Given the description of an element on the screen output the (x, y) to click on. 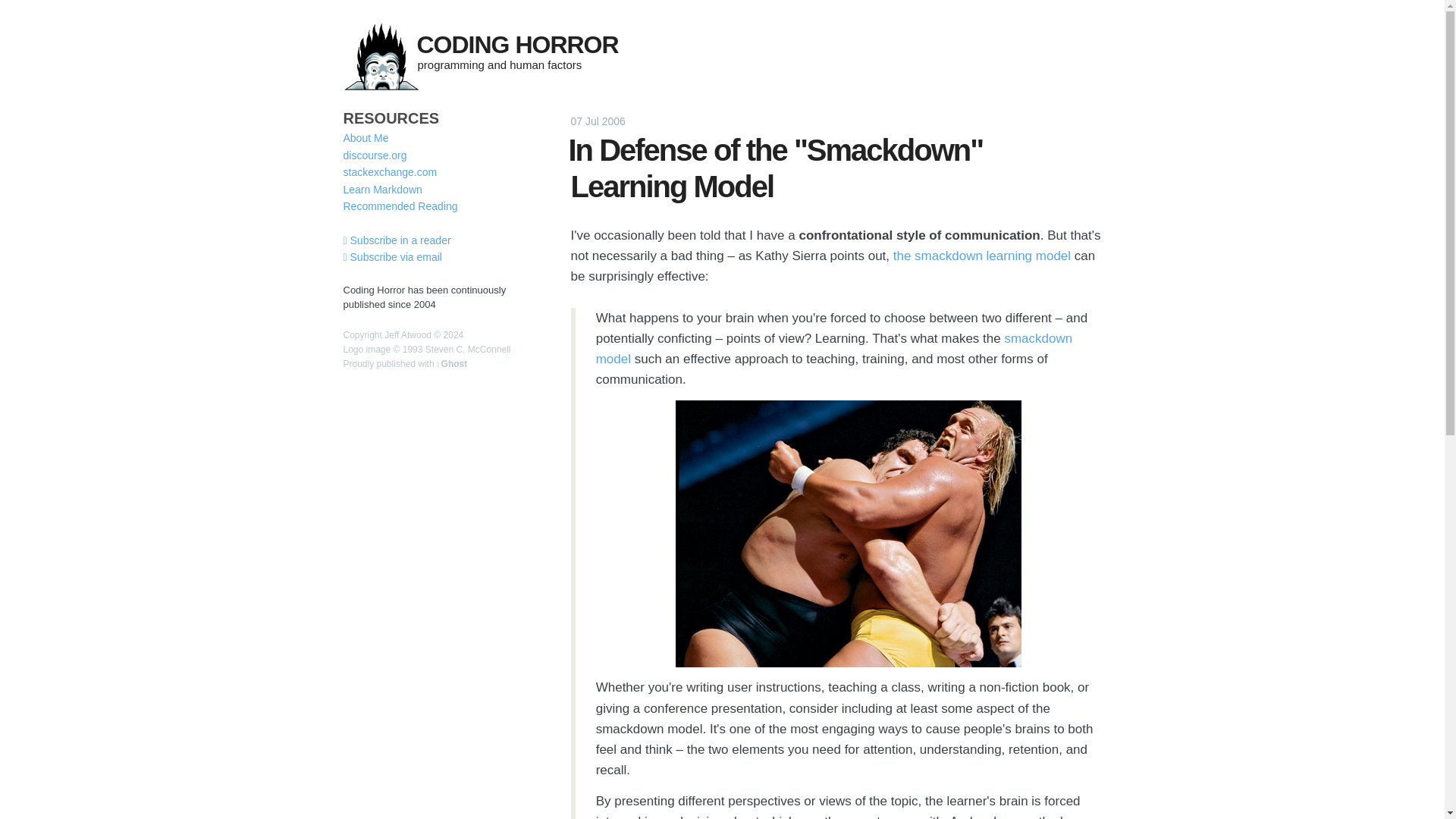
Jeff Atwood (407, 335)
CODING HORROR (517, 44)
stackexchange.com (389, 172)
discourse.org (374, 155)
the smackdown learning model (981, 255)
Recommended Reading (399, 205)
 Subscribe via email (391, 256)
 Subscribe in a reader (395, 240)
Ghost (451, 363)
smackdown model (834, 348)
Learn Markdown (382, 189)
About Me (365, 137)
